Given the description of an element on the screen output the (x, y) to click on. 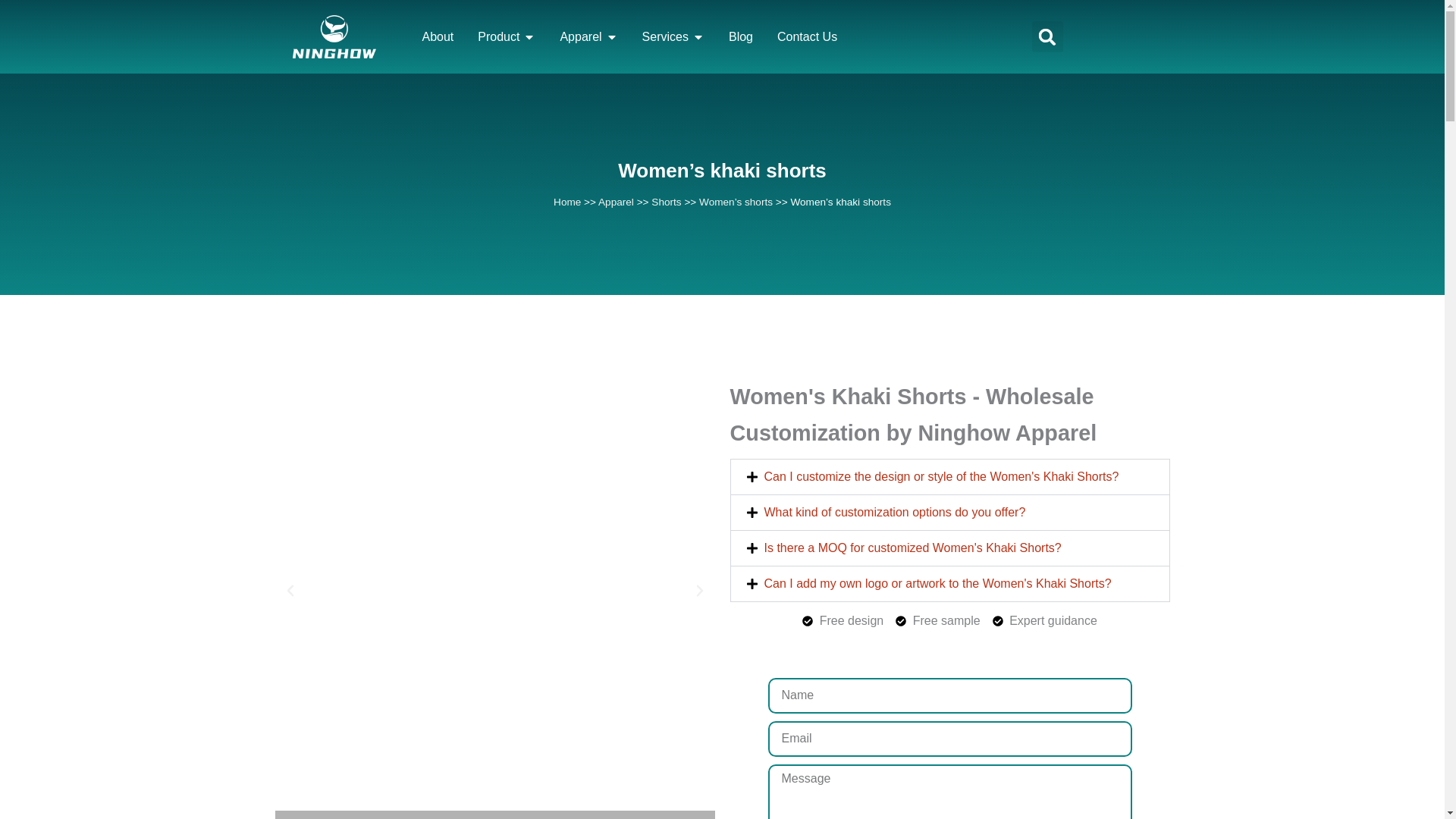
About (437, 36)
Apparel (580, 36)
Services (665, 36)
Blog (740, 36)
